Given the description of an element on the screen output the (x, y) to click on. 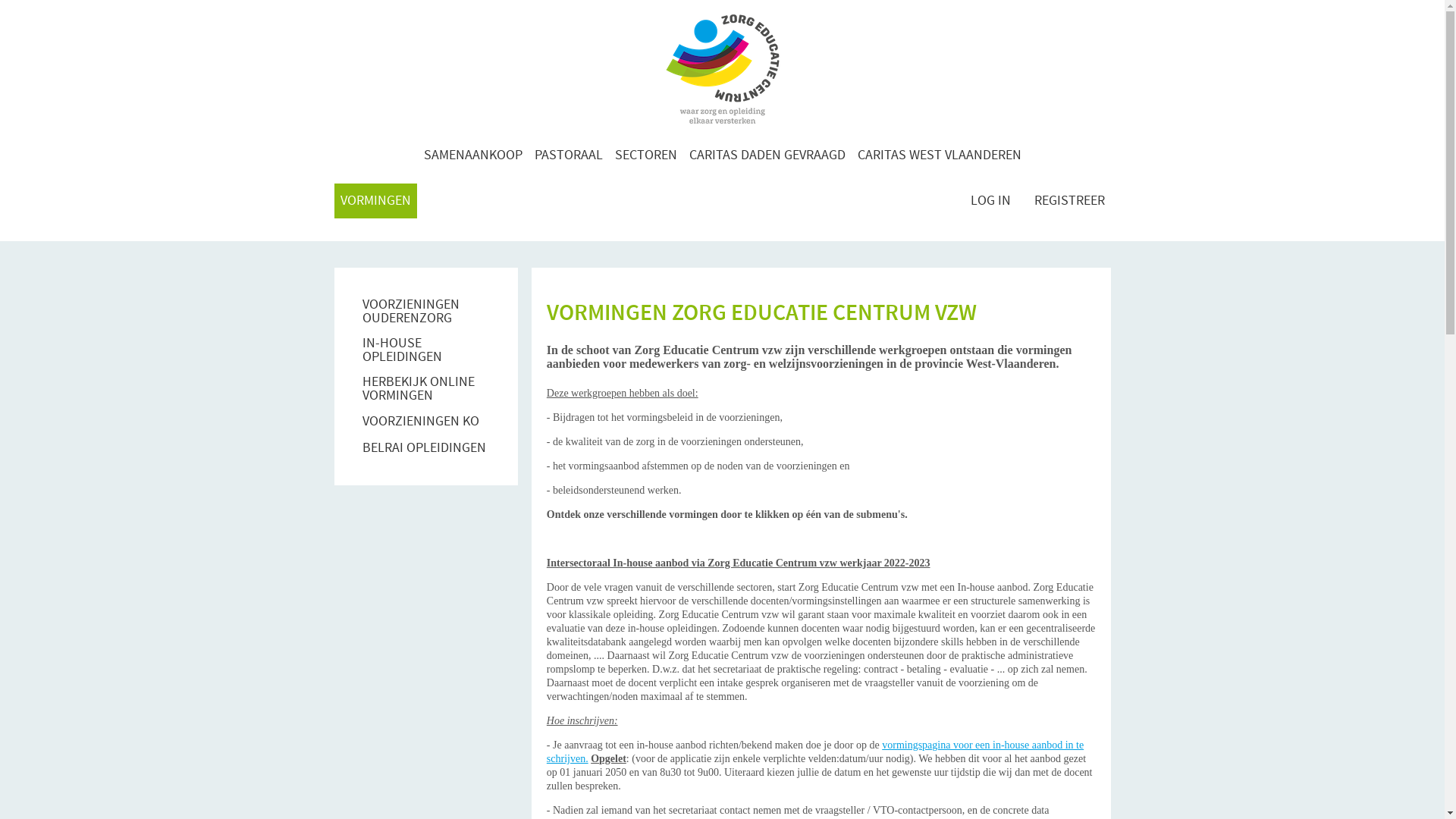
vormingspagina voor een in-house aanbod in te schrijven. Element type: text (814, 751)
HERBEKIJK ONLINE VORMINGEN Element type: text (425, 388)
VOORZIENINGEN OUDERENZORG Element type: text (425, 311)
Caritas - West-Vlaanderen Element type: text (721, 68)
REGISTREER Element type: text (1069, 200)
LOG IN Element type: text (990, 200)
CARITAS DADEN GEVRAAGD Element type: text (766, 155)
CARITAS WEST VLAANDEREN Element type: text (938, 155)
BELRAI OPLEIDINGEN Element type: text (416, 448)
VORMINGEN Element type: text (374, 200)
SAMENAANKOOP Element type: text (472, 155)
IN-HOUSE OPLEIDINGEN Element type: text (425, 350)
PASTORAAL Element type: text (567, 155)
VOORZIENINGEN KO Element type: text (413, 421)
SECTOREN Element type: text (645, 155)
